Given the description of an element on the screen output the (x, y) to click on. 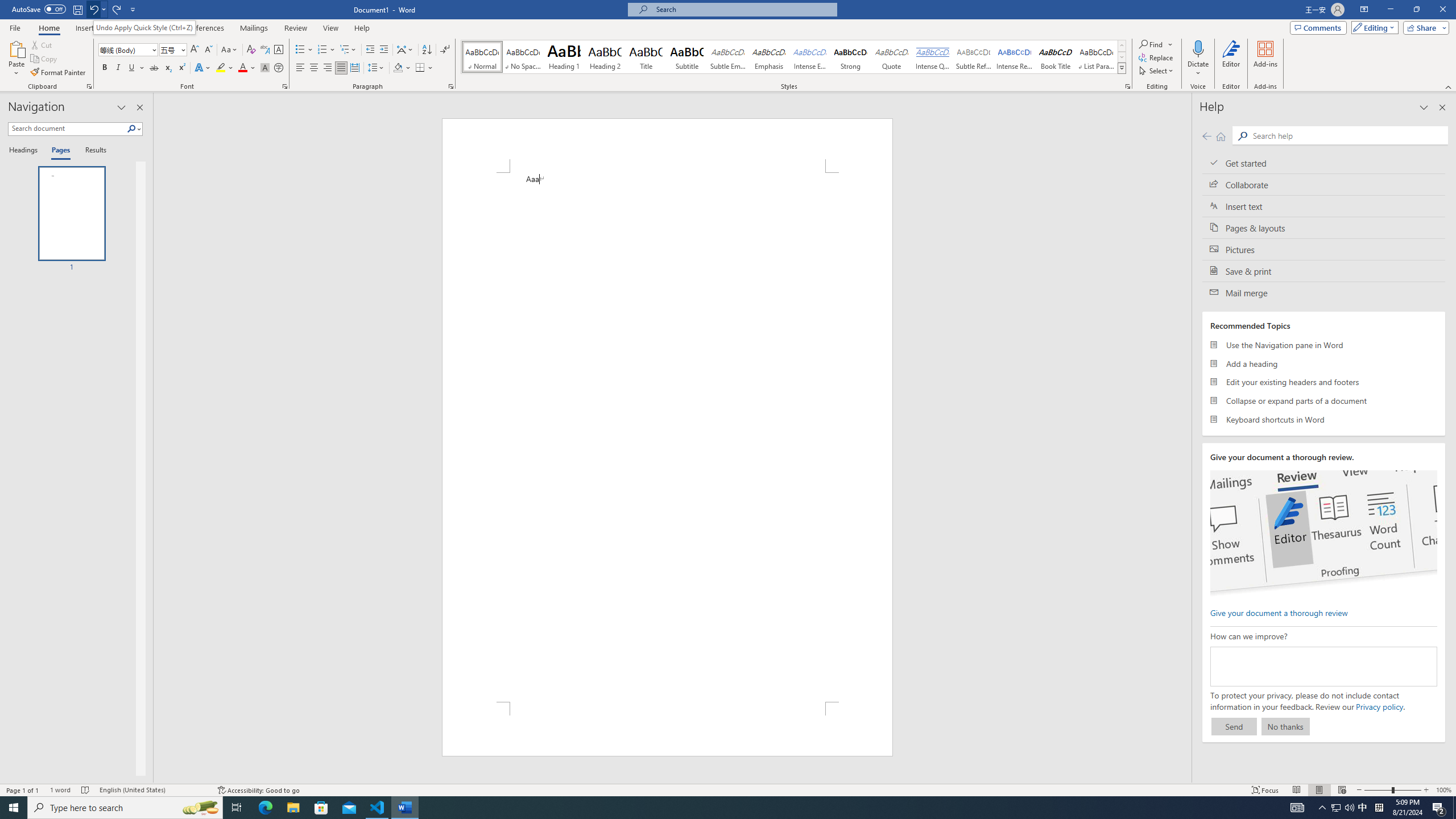
Use the Navigation pane in Word (1323, 344)
Italic (118, 67)
Multilevel List (347, 49)
Spelling and Grammar Check No Errors (85, 790)
Task Pane Options (121, 107)
Subscript (167, 67)
Insert text (1323, 206)
Zoom 100% (1443, 790)
Mail merge (1323, 292)
